Given the description of an element on the screen output the (x, y) to click on. 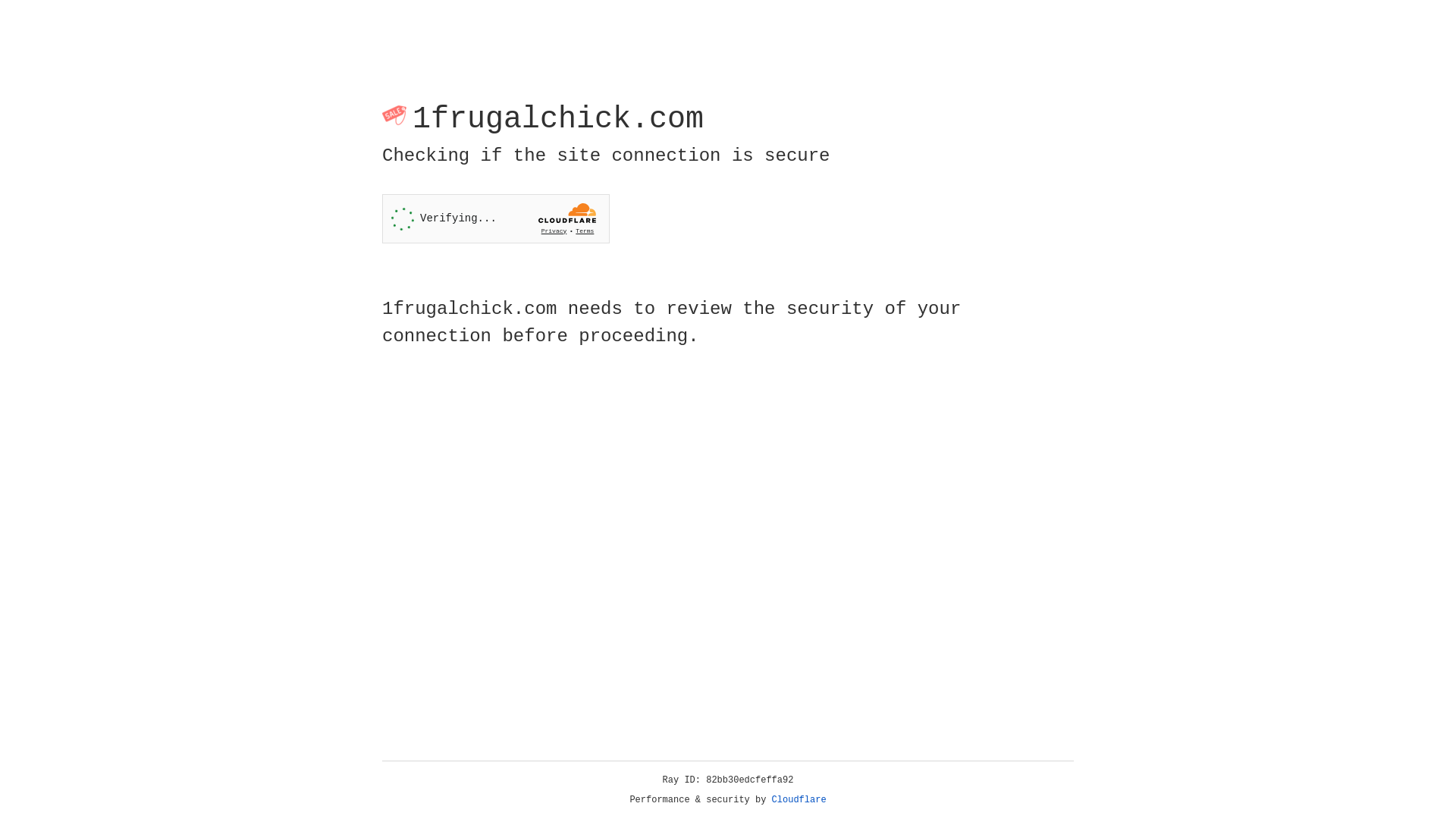
Cloudflare Element type: text (798, 799)
Widget containing a Cloudflare security challenge Element type: hover (495, 218)
